Given the description of an element on the screen output the (x, y) to click on. 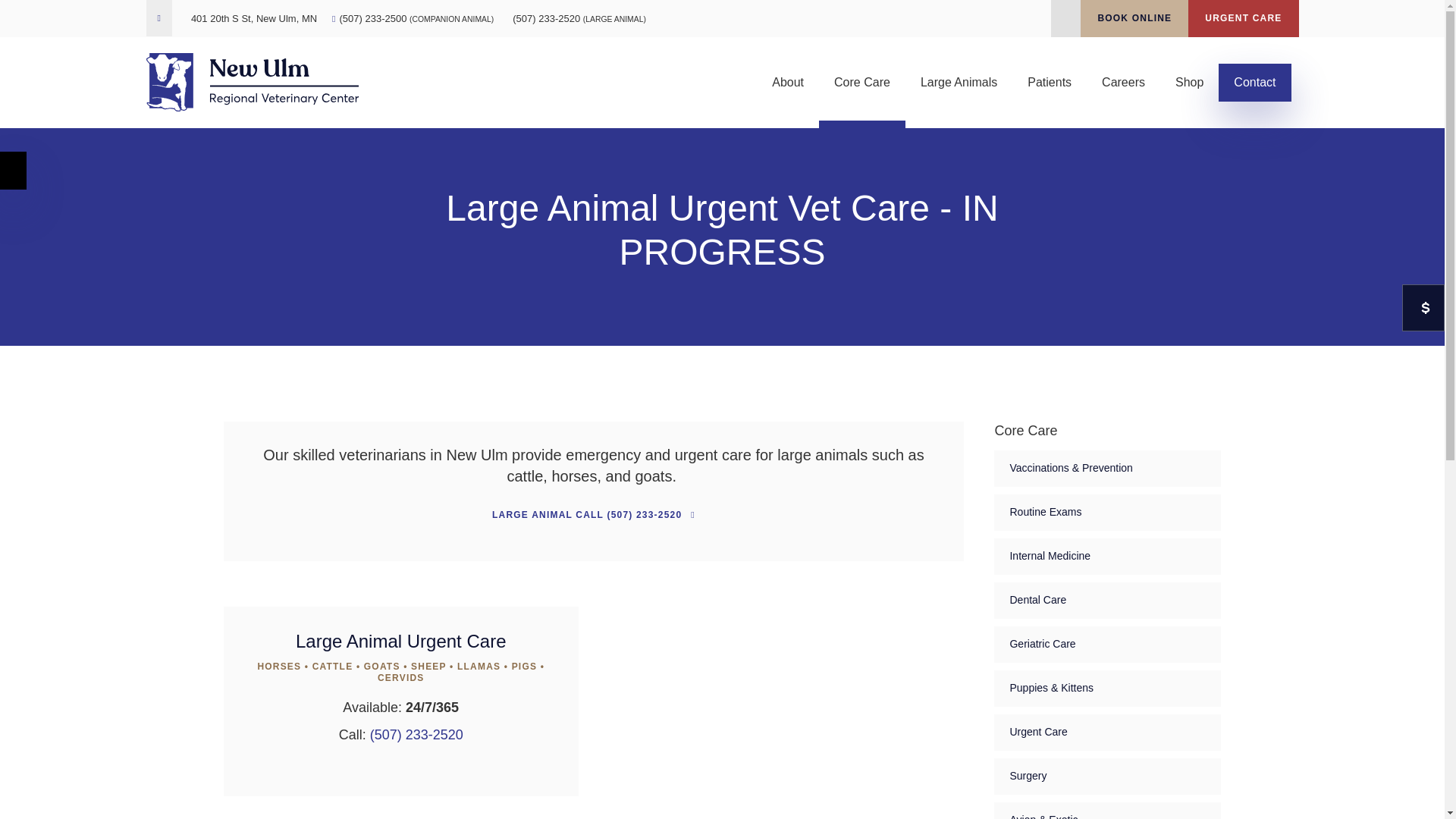
401 20th S St New Ulm MN (253, 18)
Open Search Box (1065, 21)
BOOK ONLINE (1134, 18)
URGENT CARE (1243, 18)
